Given the description of an element on the screen output the (x, y) to click on. 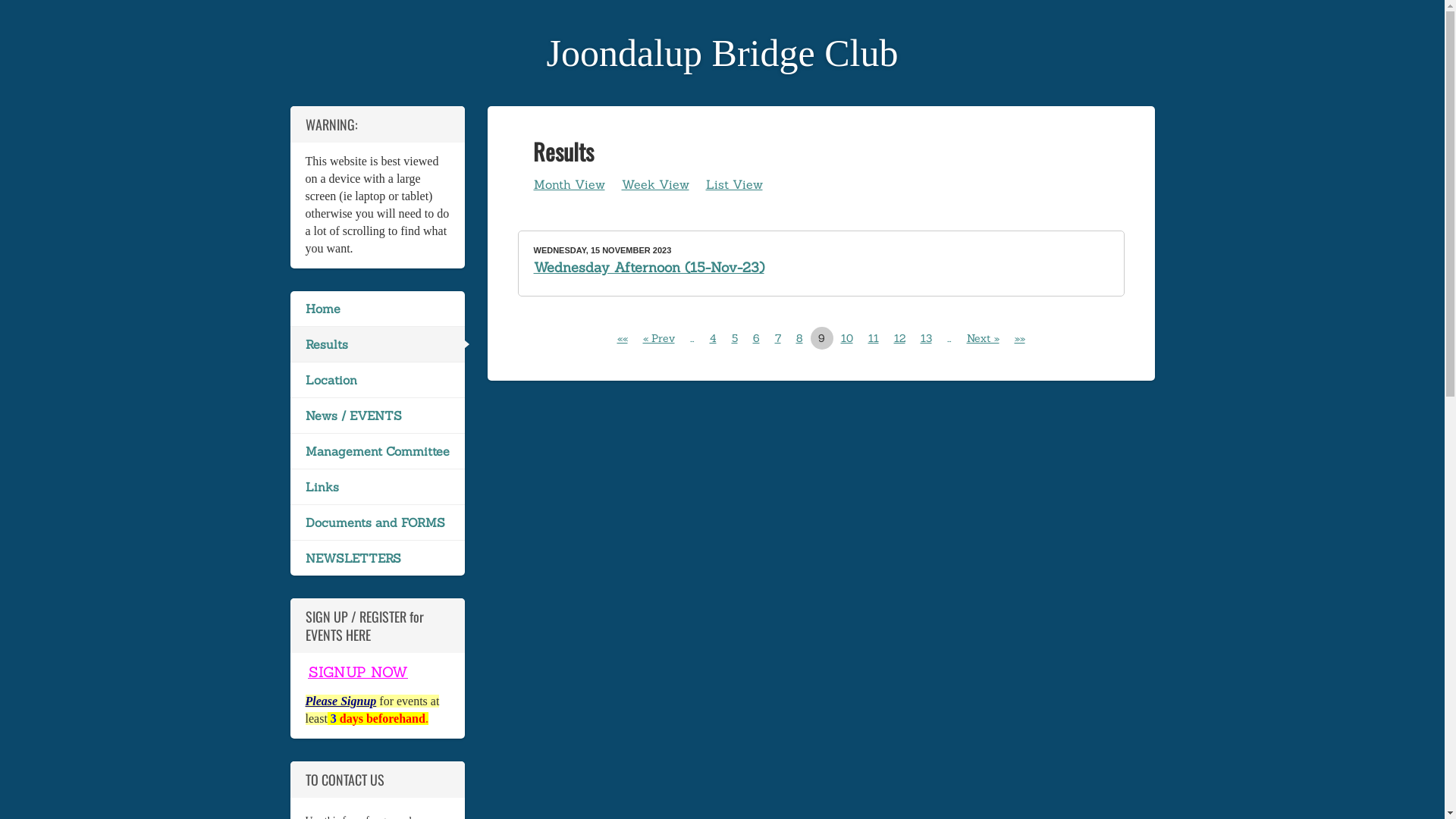
Joondalup Bridge Club Element type: text (722, 52)
Management Committee Element type: text (376, 450)
News / EVENTS Element type: text (376, 415)
Month View Element type: text (568, 185)
9 Element type: text (820, 337)
11 Element type: text (872, 337)
6 Element type: text (755, 337)
Week View Element type: text (654, 185)
Links Element type: text (376, 486)
List View Element type: text (734, 185)
8 Element type: text (799, 337)
7 Element type: text (777, 337)
5 Element type: text (733, 337)
Results Element type: text (376, 343)
13 Element type: text (926, 337)
SIGNUP NOW Element type: text (357, 671)
4 Element type: text (713, 337)
12 Element type: text (898, 337)
Wednesday Afternoon (15-Nov-23) Element type: text (648, 267)
Documents and FORMS Element type: text (376, 522)
NEWSLETTERS Element type: text (376, 557)
Location Element type: text (376, 379)
10 Element type: text (845, 337)
Home Element type: text (376, 308)
